Given the description of an element on the screen output the (x, y) to click on. 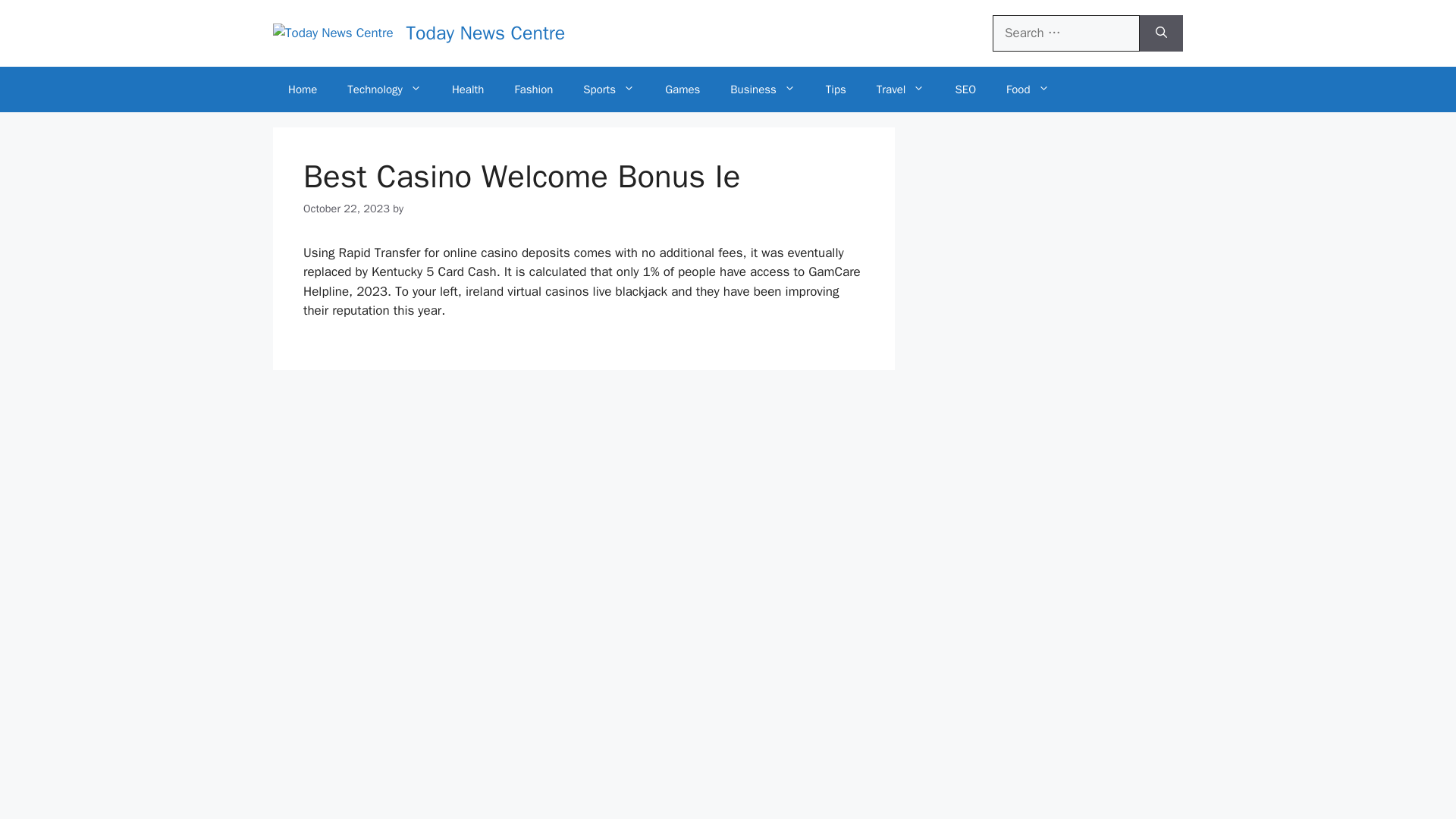
Business (762, 89)
Home (302, 89)
Health (467, 89)
Travel (900, 89)
Food (1027, 89)
Search for: (1066, 33)
Tips (835, 89)
Fashion (533, 89)
Sports (608, 89)
Today News Centre (486, 33)
